Given the description of an element on the screen output the (x, y) to click on. 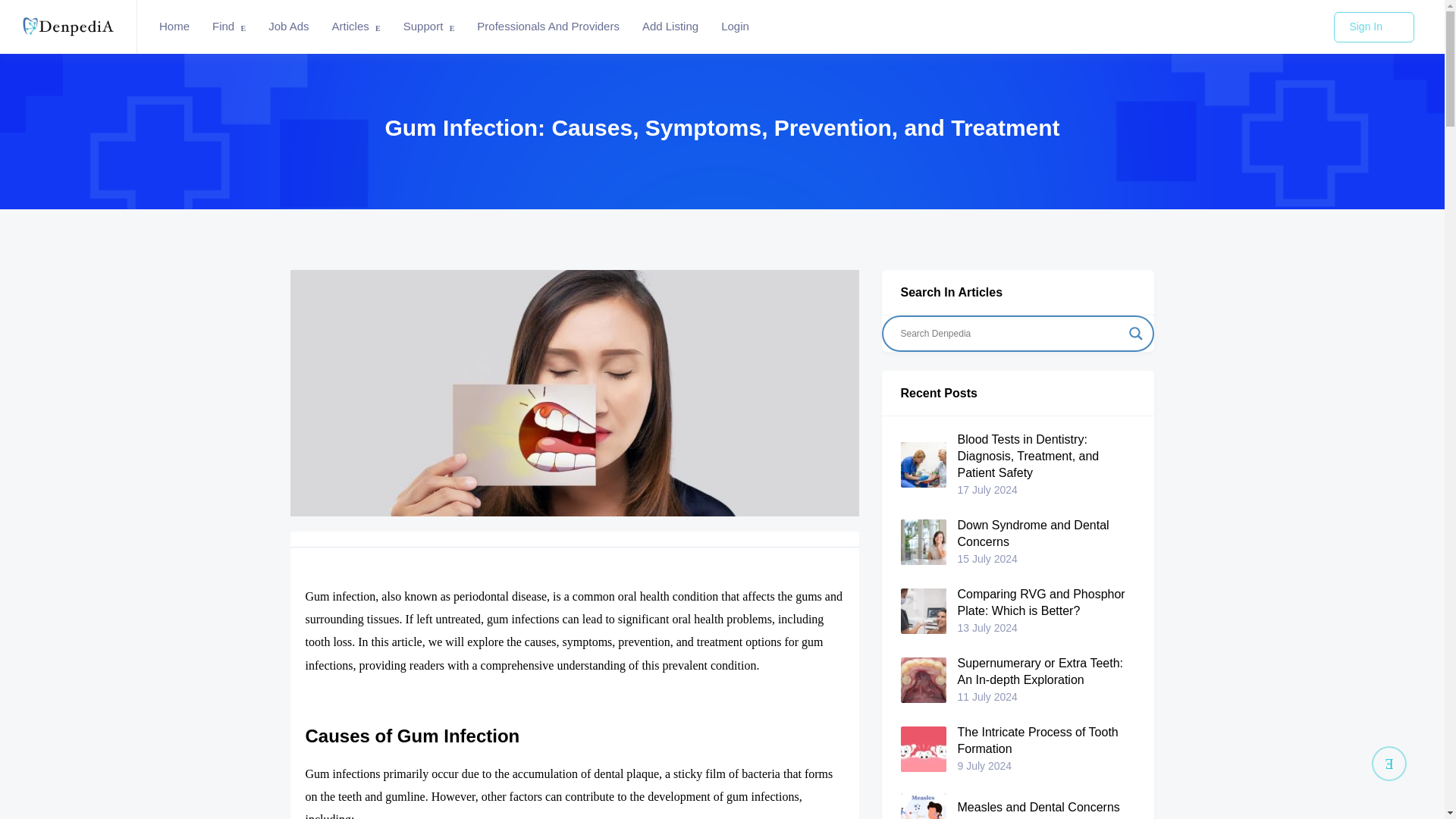
Find (229, 27)
Login (734, 27)
Job Ads (287, 27)
Professionals And Providers (548, 27)
Add Listing (670, 27)
Home (173, 27)
Sign In (1373, 27)
Articles (355, 27)
Support (428, 27)
